Given the description of an element on the screen output the (x, y) to click on. 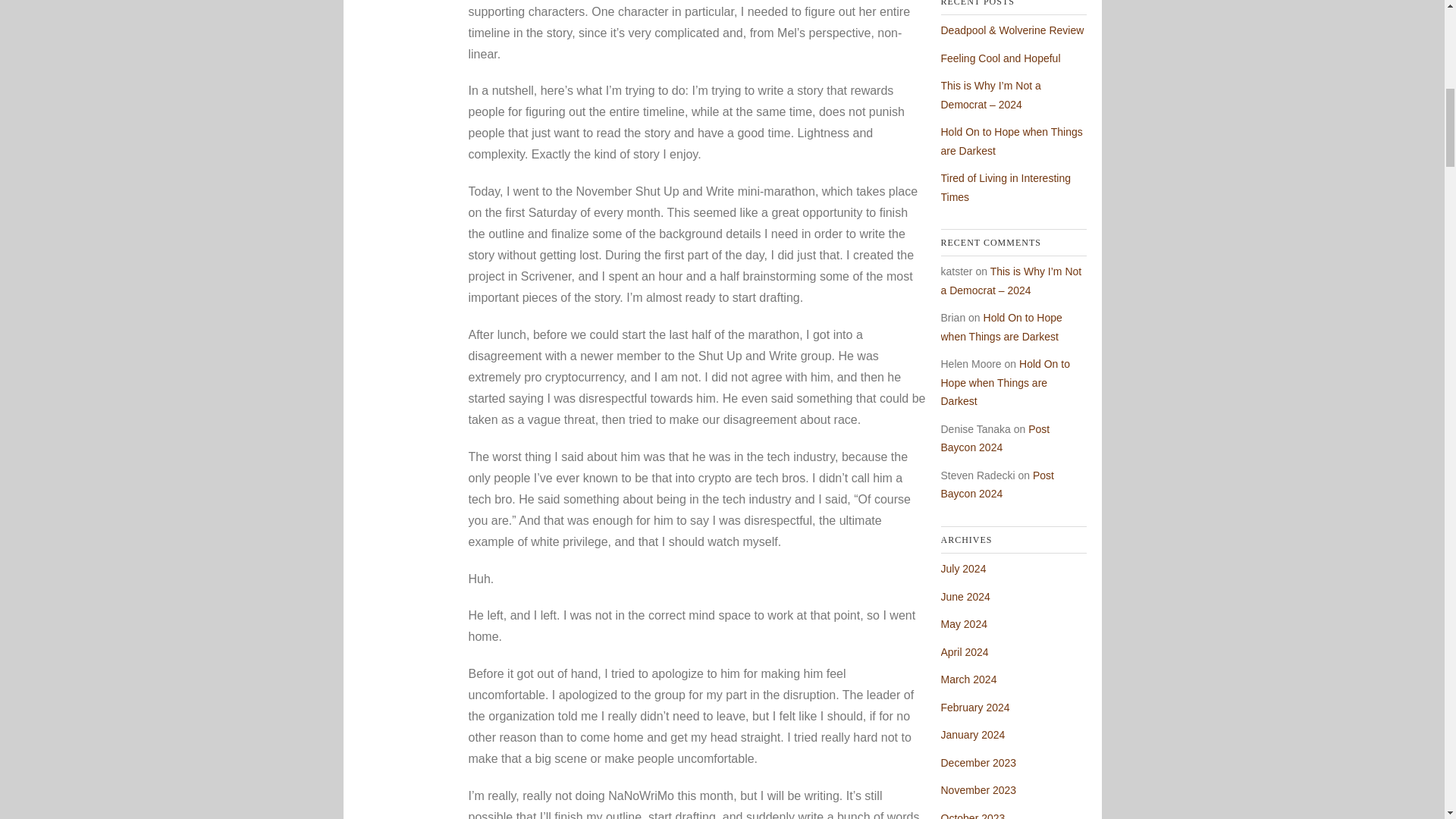
November 2023 (978, 789)
Hold On to Hope when Things are Darkest (1010, 141)
March 2024 (967, 679)
May 2024 (963, 623)
January 2024 (972, 734)
April 2024 (964, 652)
June 2024 (965, 596)
Post Baycon 2024 (994, 438)
October 2023 (972, 815)
Post Baycon 2024 (996, 484)
Hold On to Hope when Things are Darkest (1004, 382)
December 2023 (978, 762)
Feeling Cool and Hopeful (999, 58)
February 2024 (974, 707)
July 2024 (962, 568)
